Given the description of an element on the screen output the (x, y) to click on. 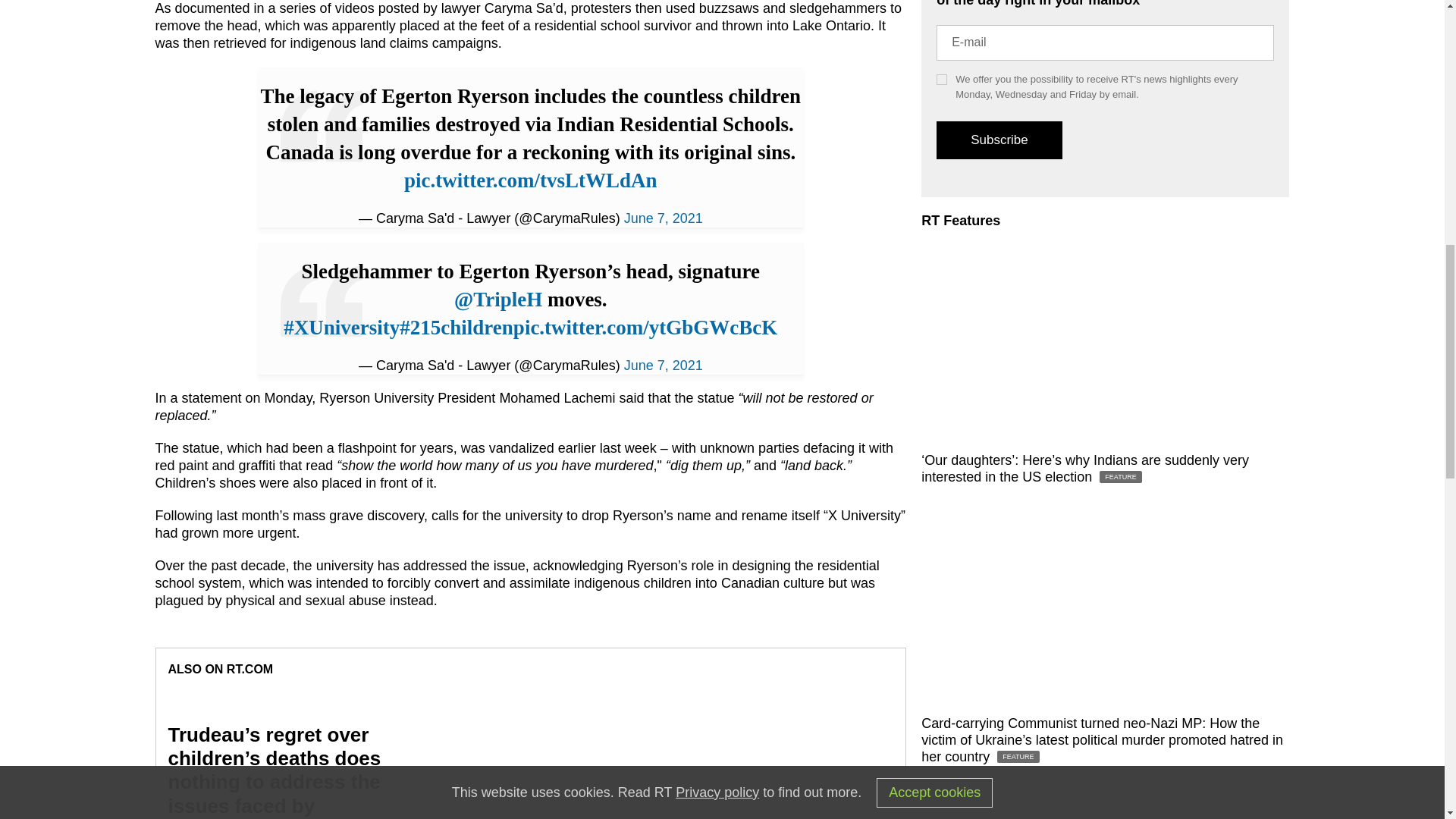
June 7, 2021 (663, 365)
June 7, 2021 (663, 218)
